Given the description of an element on the screen output the (x, y) to click on. 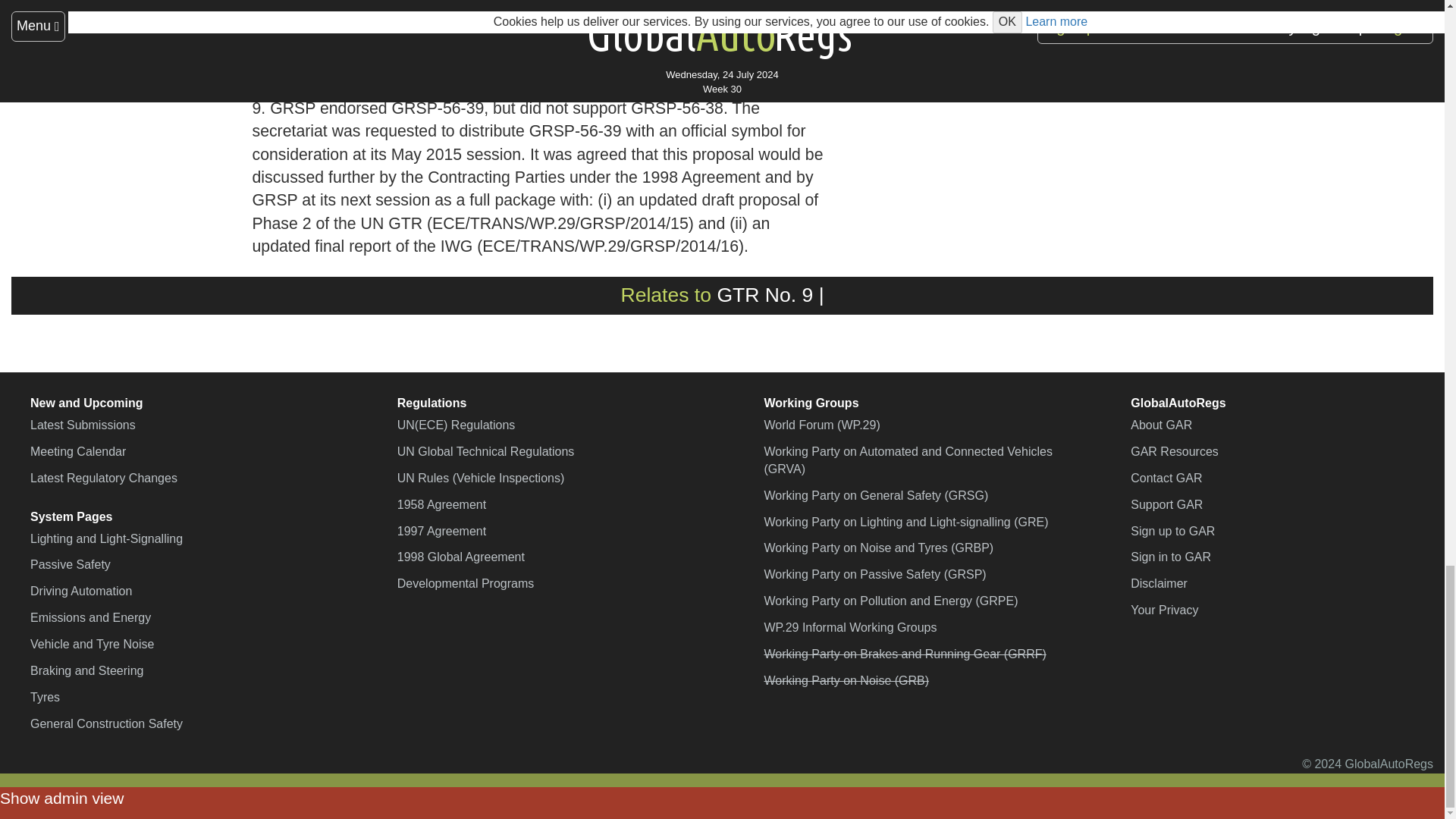
Pedestrian Safety (764, 294)
